Given the description of an element on the screen output the (x, y) to click on. 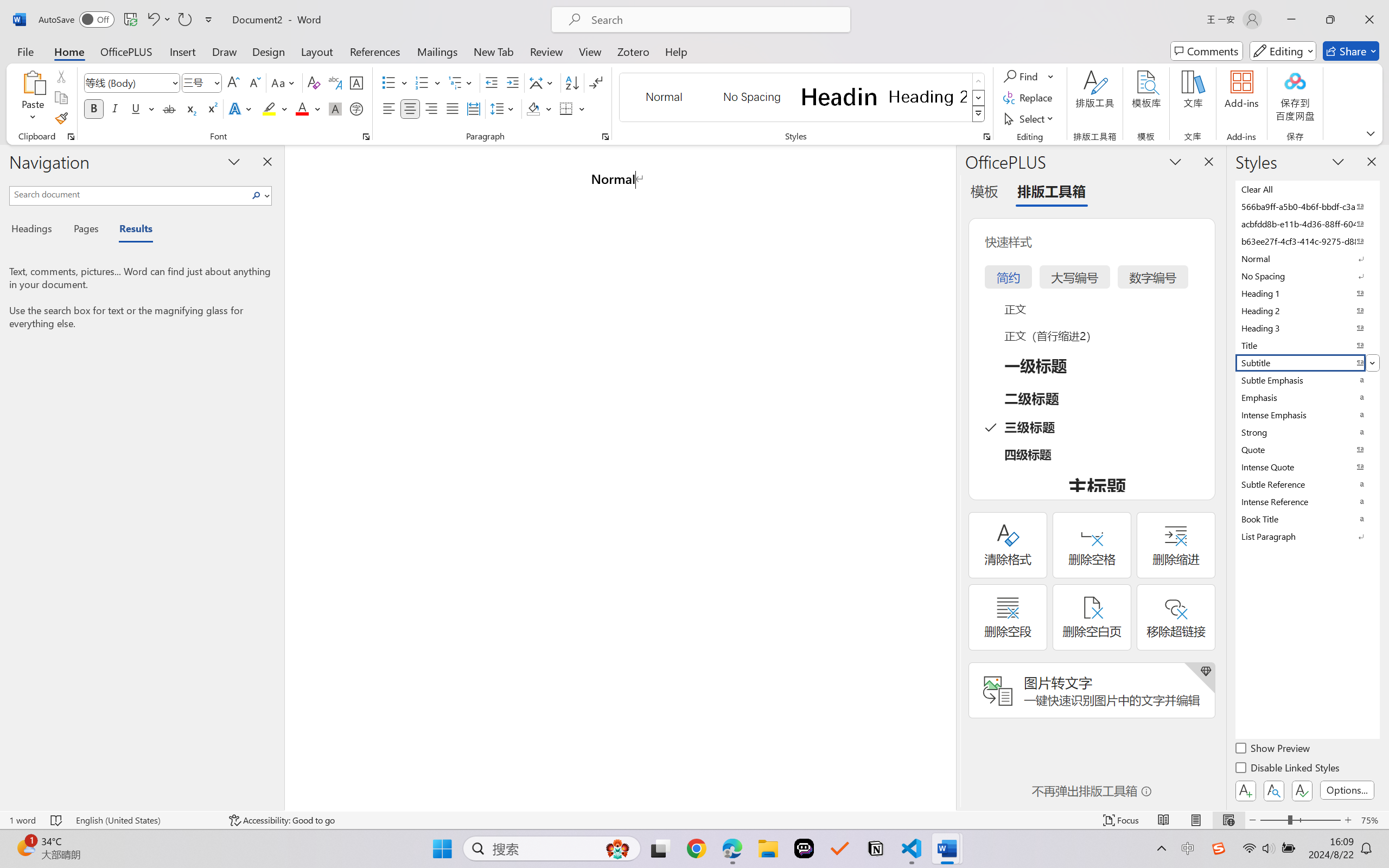
Format Painter (60, 118)
Class: NetUIButton (1301, 790)
Design (268, 51)
Text Highlight Color (274, 108)
Clear Formatting (313, 82)
Minimize (1291, 19)
Layout (316, 51)
Zoom In (1348, 819)
Heading 3 (1306, 327)
